Given the description of an element on the screen output the (x, y) to click on. 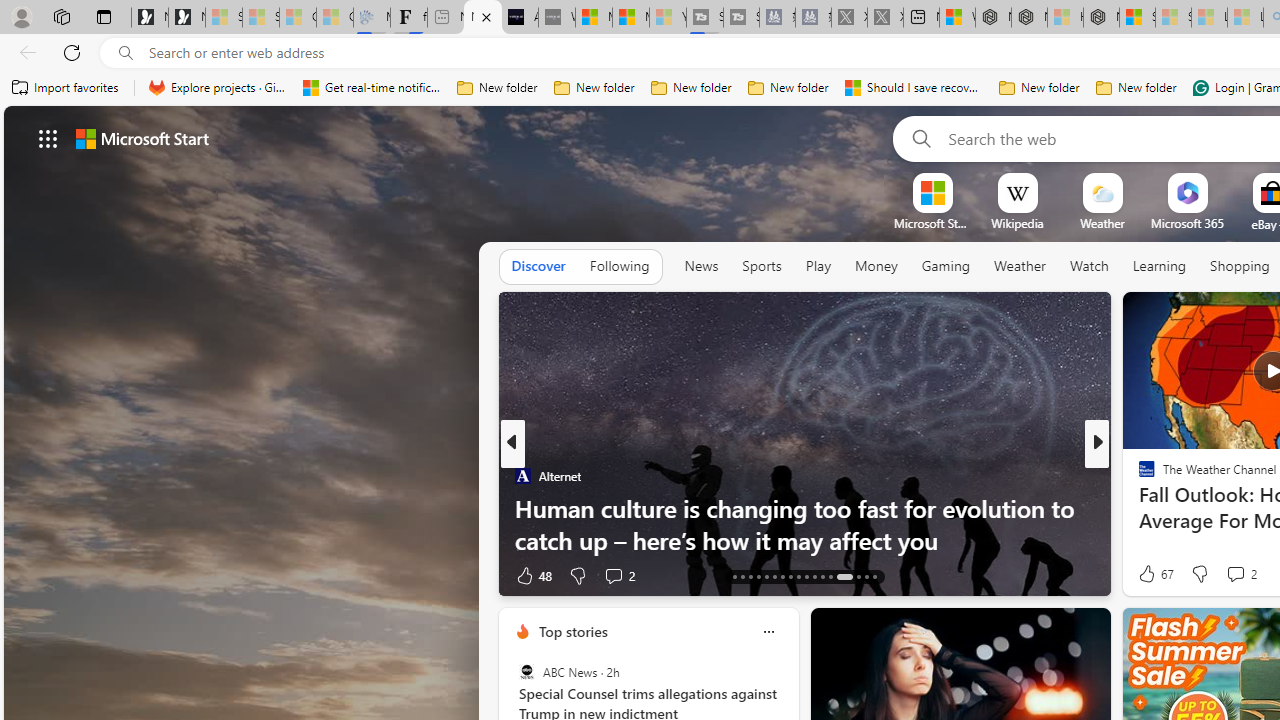
CNBC (1138, 475)
News (701, 267)
AutomationID: tab-22 (774, 576)
Money (876, 267)
Streaming Coverage | T3 - Sleeping (705, 17)
View comments 4 Comment (1229, 575)
AutomationID: waffle (47, 138)
Tab actions menu (104, 16)
X - Sleeping (884, 17)
Watch (1089, 265)
Learning (1159, 267)
Microsoft Start Sports (932, 223)
